Given the description of an element on the screen output the (x, y) to click on. 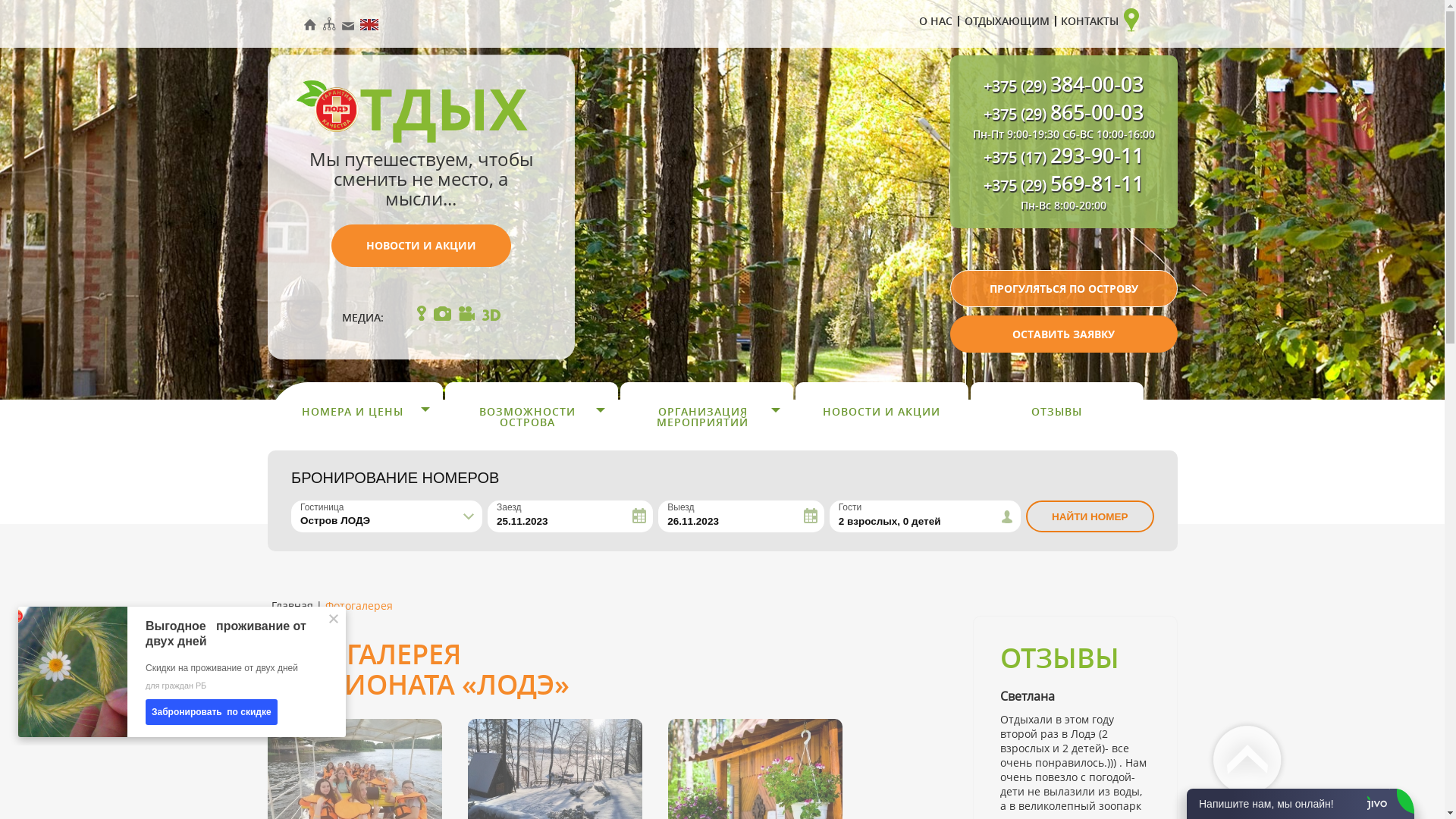
+375 (29) 384-00-03 Element type: text (1063, 86)
+375 (17) 293-90-11 Element type: text (1063, 157)
+375 (29) 569-81-11 Element type: text (1063, 185)
+375 (29) 865-00-03 Element type: text (1063, 114)
